Given the description of an element on the screen output the (x, y) to click on. 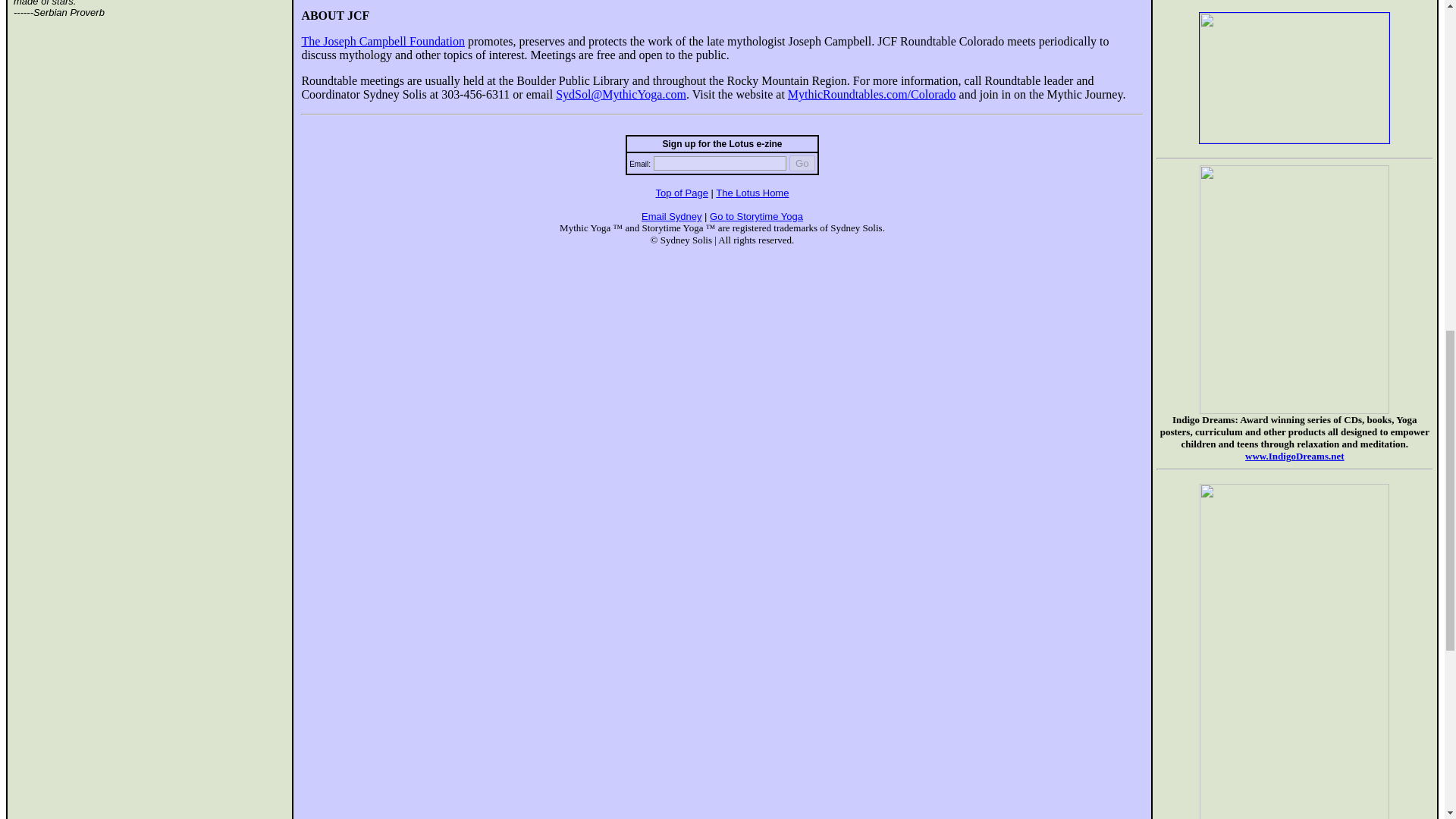
The Lotus Home (752, 193)
Go (802, 163)
www.IndigoDreams.net (1293, 455)
Email Sydney (671, 215)
Top of Page (681, 193)
Go (802, 163)
The Joseph Campbell Foundation (382, 41)
Go to Storytime Yoga (756, 215)
